Given the description of an element on the screen output the (x, y) to click on. 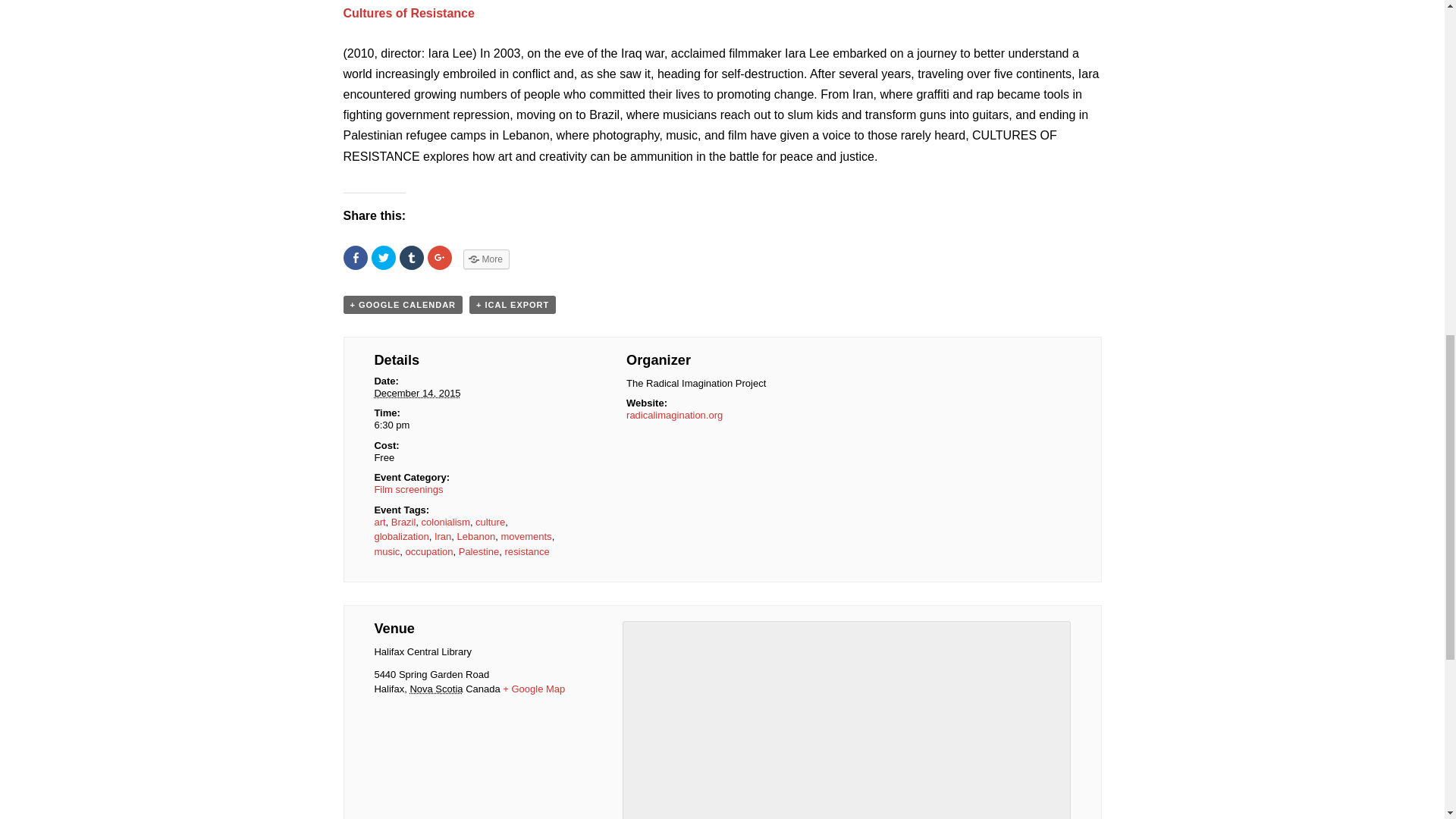
Nova Scotia (436, 688)
Share on Facebook (354, 257)
2015-12-14 (470, 425)
2015-12-14 (417, 392)
More (485, 259)
Click to share on Tumblr (410, 257)
Download .ics file (512, 304)
Cultures of Resistance (408, 12)
Click to share on Twitter (383, 257)
Add to Google Calendar (402, 304)
